Given the description of an element on the screen output the (x, y) to click on. 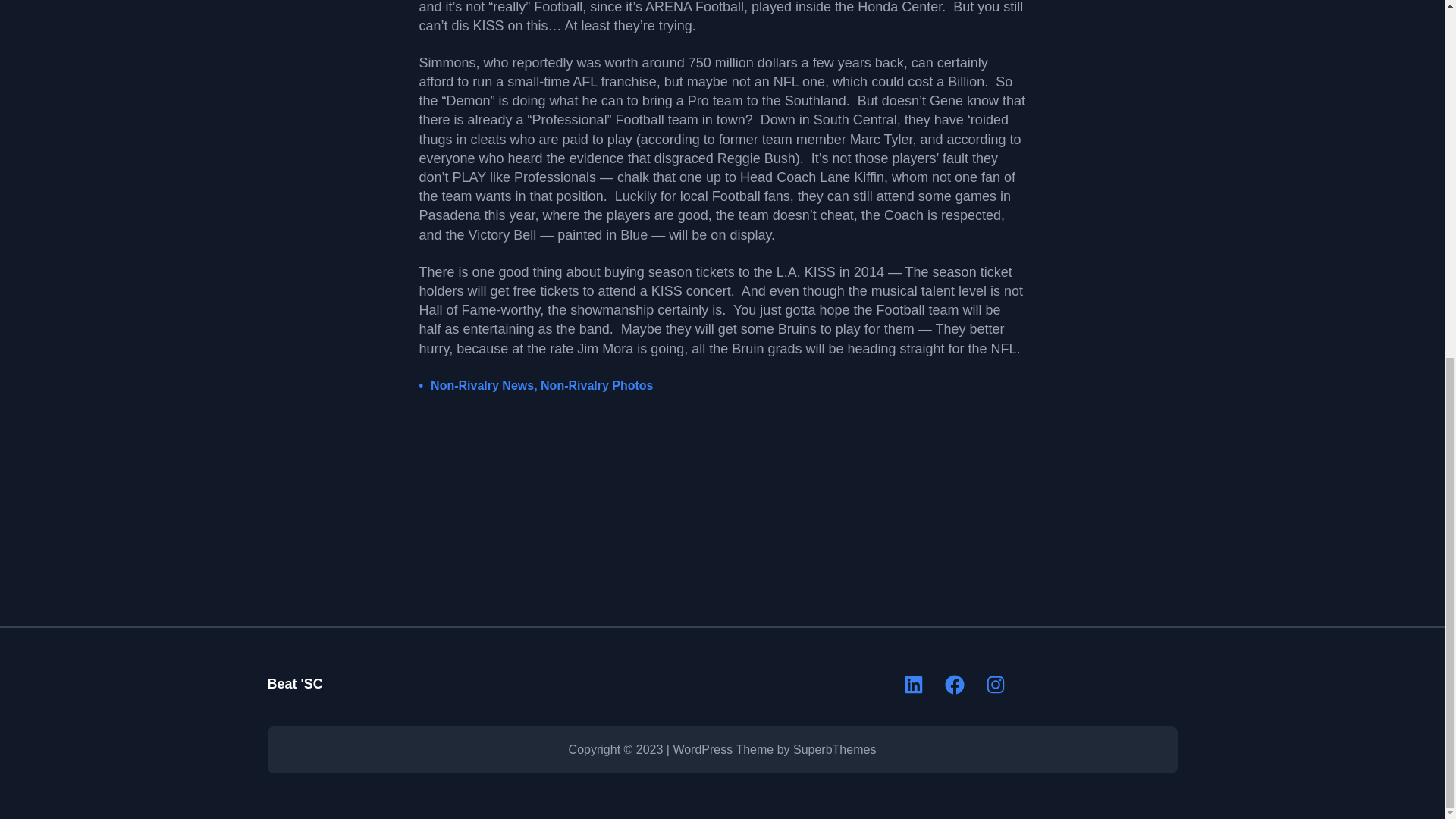
Beat 'SC (293, 683)
SuperbThemes (834, 748)
Non-Rivalry News (482, 385)
Non-Rivalry Photos (596, 385)
Instagram (995, 684)
LinkedIn (913, 684)
Facebook (954, 684)
